Given the description of an element on the screen output the (x, y) to click on. 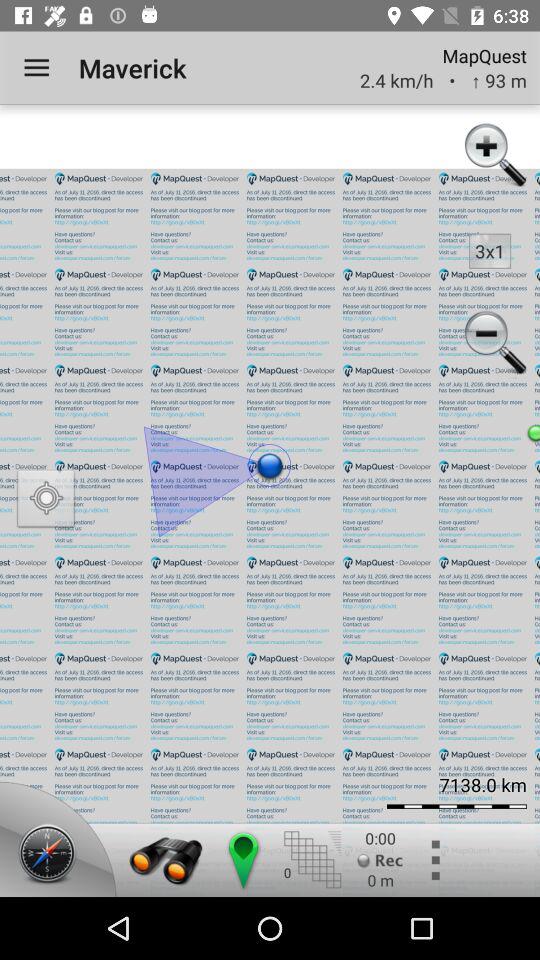
zoom in (493, 157)
